Given the description of an element on the screen output the (x, y) to click on. 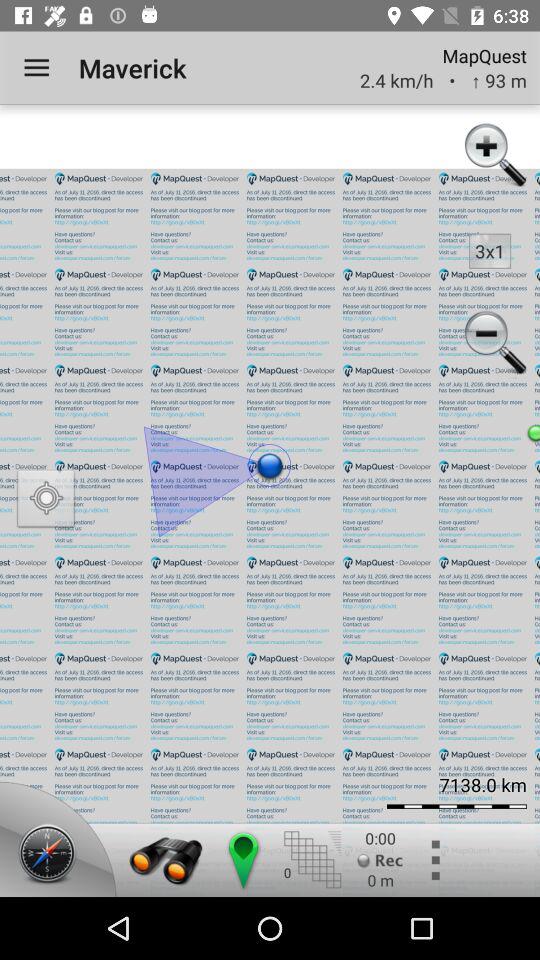
zoom in (493, 157)
